Given the description of an element on the screen output the (x, y) to click on. 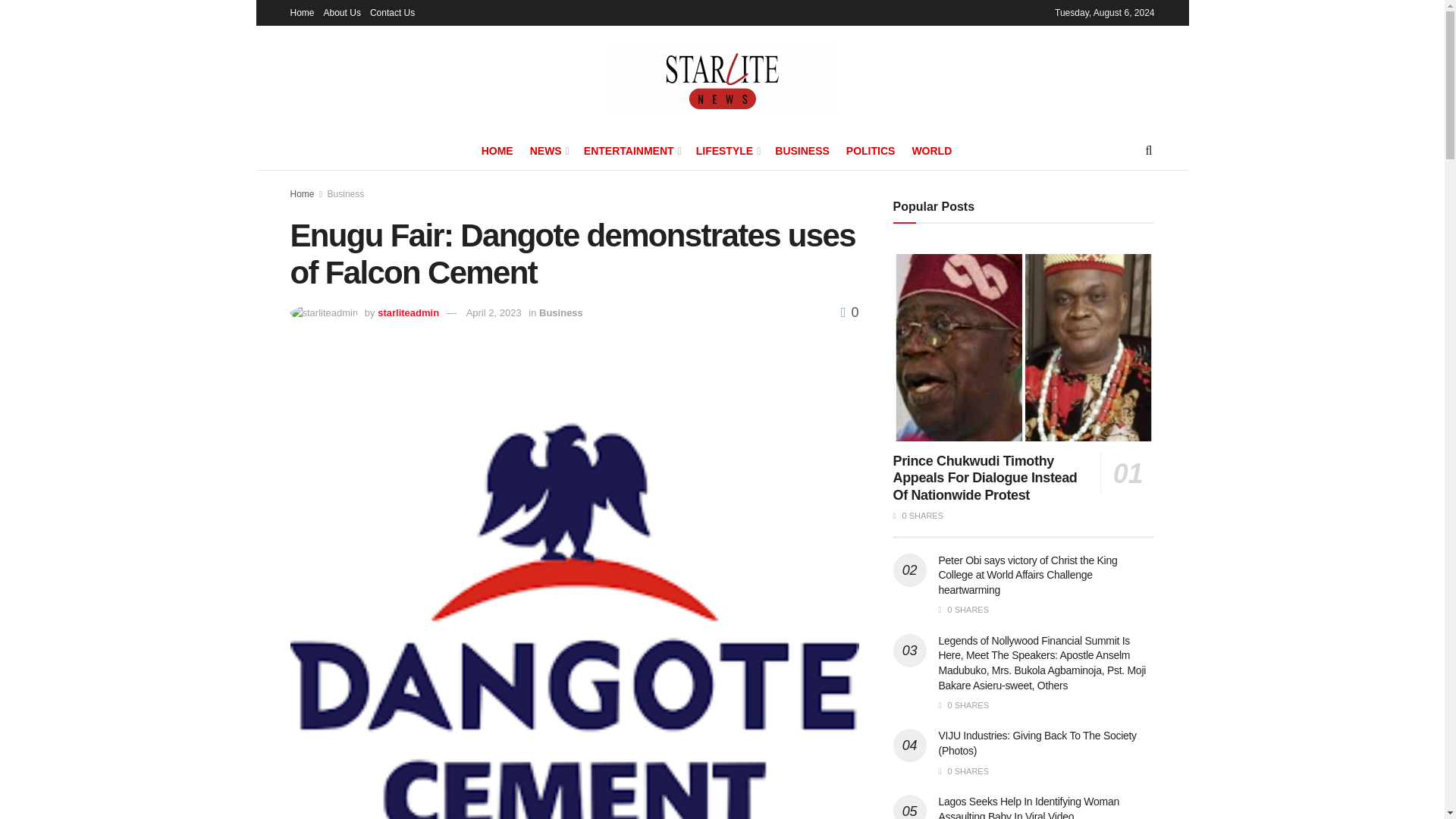
Contact Us (391, 12)
NEWS (548, 150)
Home (301, 12)
ENTERTAINMENT (631, 150)
About Us (342, 12)
LIFESTYLE (726, 150)
HOME (497, 150)
